Given the description of an element on the screen output the (x, y) to click on. 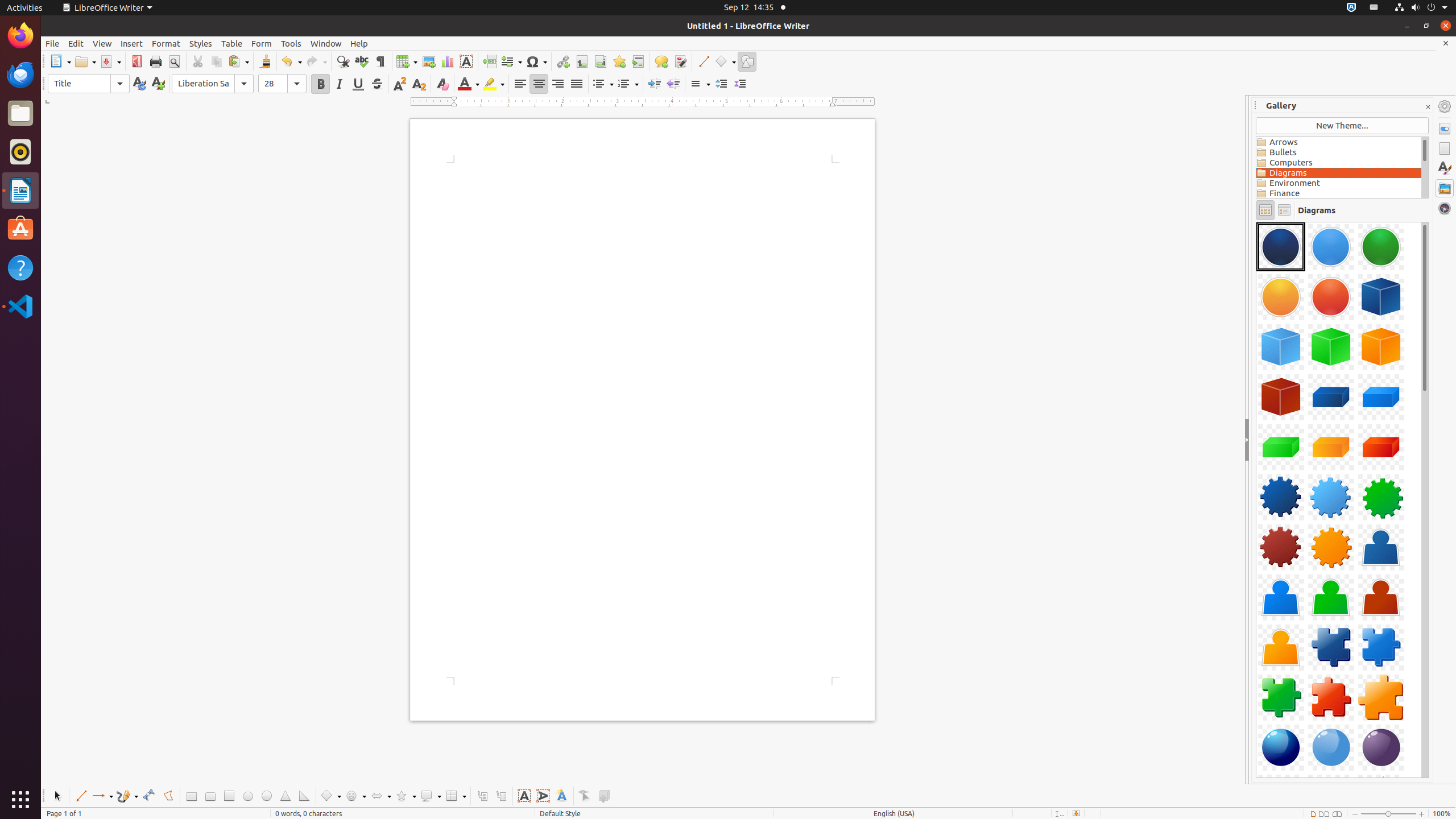
Window Element type: menu (325, 43)
Lines and Arrows Element type: push-button (101, 795)
Component-Cube01-DarkBlue Element type: list-item (1380, 296)
Endnote Element type: push-button (599, 61)
Component-Cube02-LightBlue Element type: list-item (1280, 346)
